Given the description of an element on the screen output the (x, y) to click on. 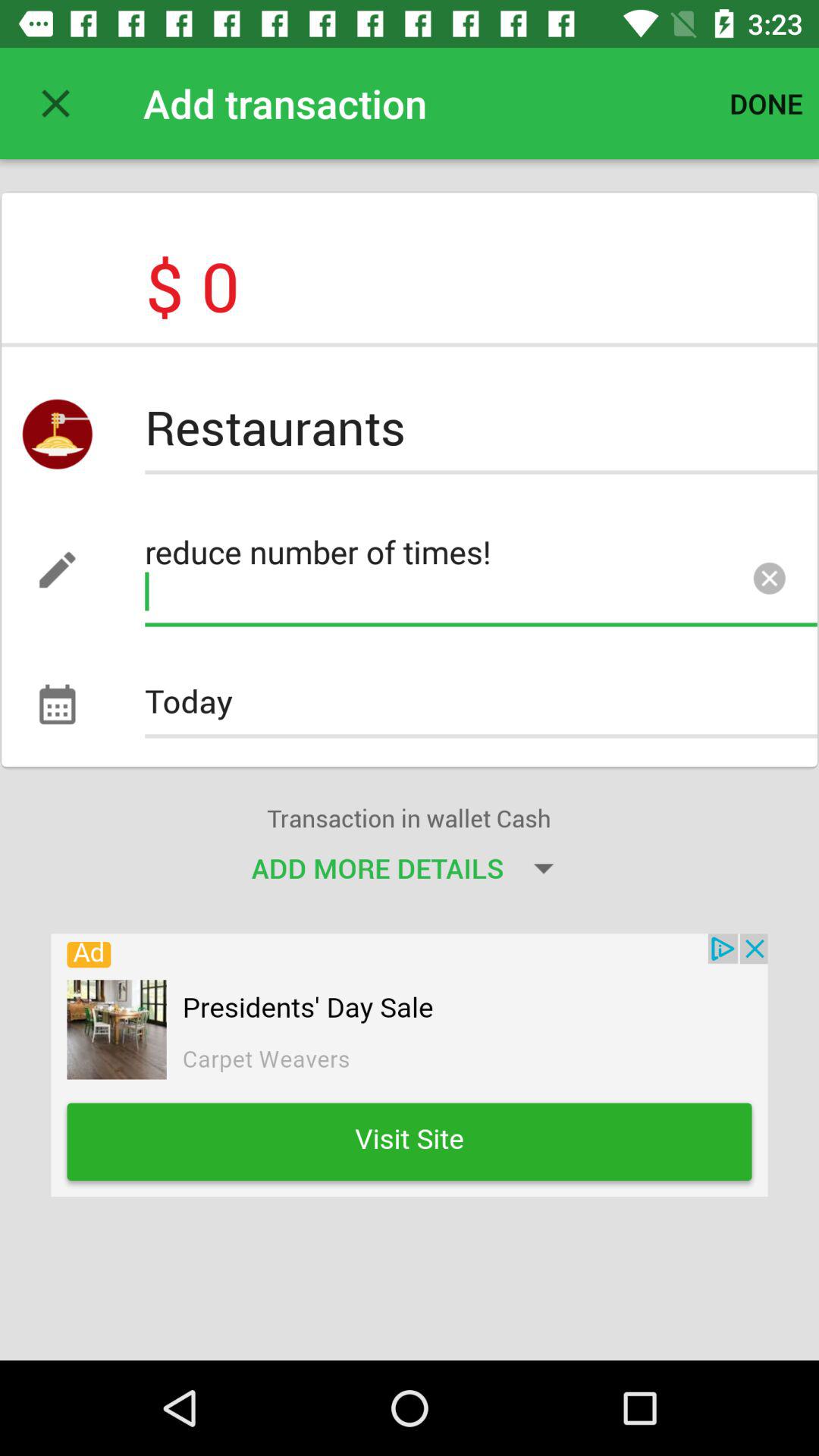
closeing the file (55, 103)
